Given the description of an element on the screen output the (x, y) to click on. 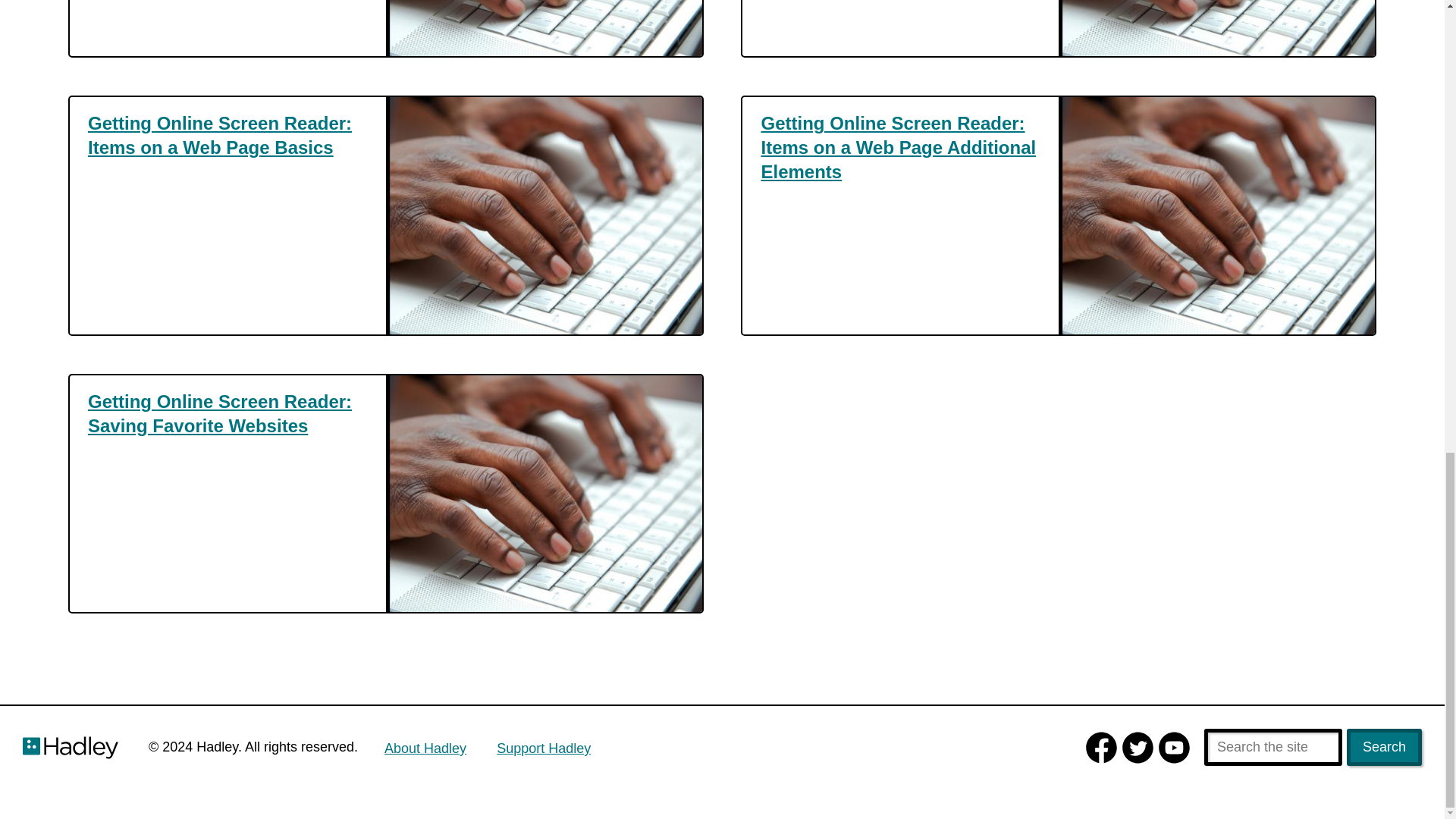
Twitter (1138, 747)
Getting Online Screen Reader: Saving Favorite Websites (227, 413)
Search (1384, 746)
Support Hadley (543, 748)
Search (1384, 746)
Getting Online Screen Reader: Items on a Web Page Basics (227, 135)
Facebook (1102, 747)
YouTube (1174, 747)
About Hadley (424, 748)
